Given the description of an element on the screen output the (x, y) to click on. 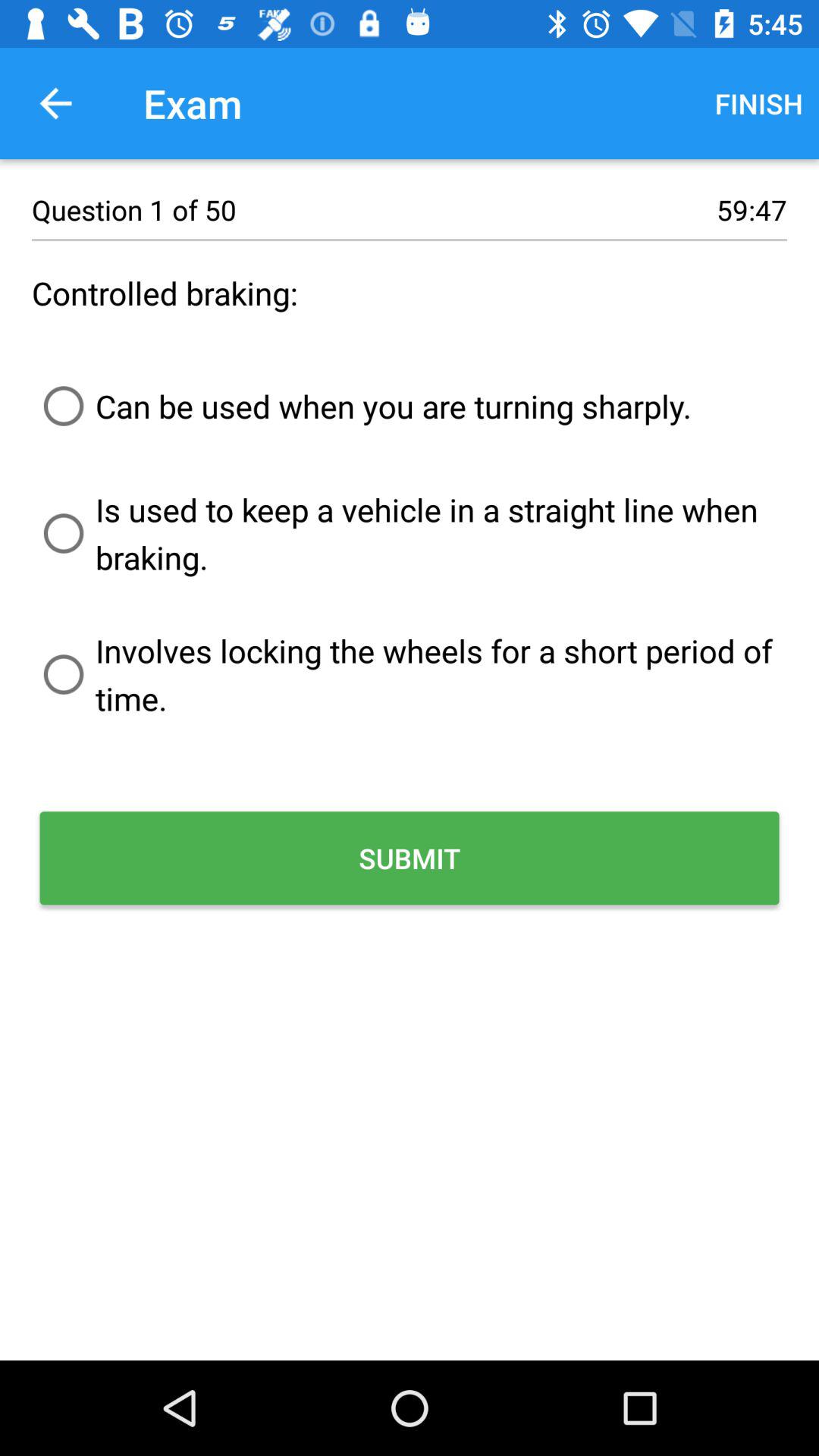
launch icon above the 59:46 item (758, 103)
